Given the description of an element on the screen output the (x, y) to click on. 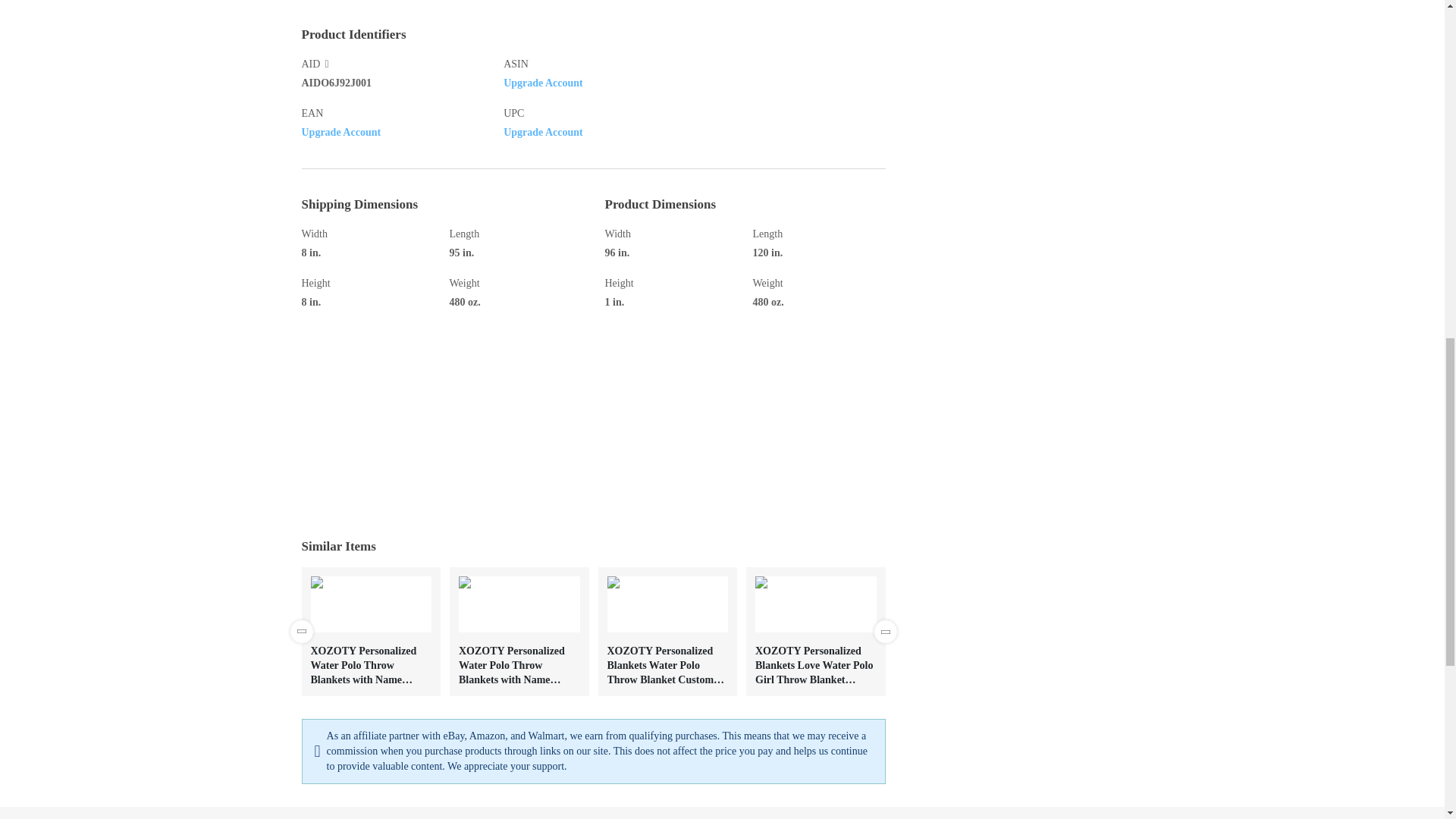
Upgrade Account (341, 131)
Upgrade Account (543, 82)
Upgrade Account (543, 131)
